Given the description of an element on the screen output the (x, y) to click on. 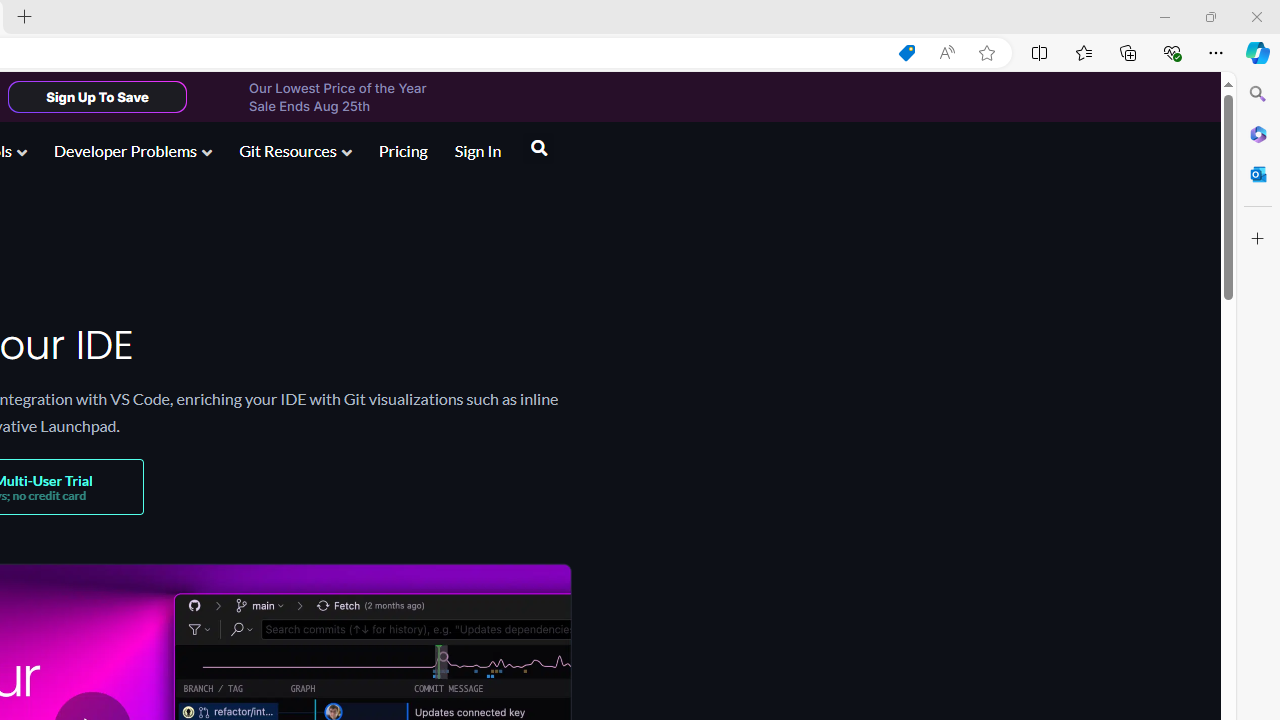
Pricing (402, 150)
Pricing (403, 152)
Sign In (477, 150)
